Given the description of an element on the screen output the (x, y) to click on. 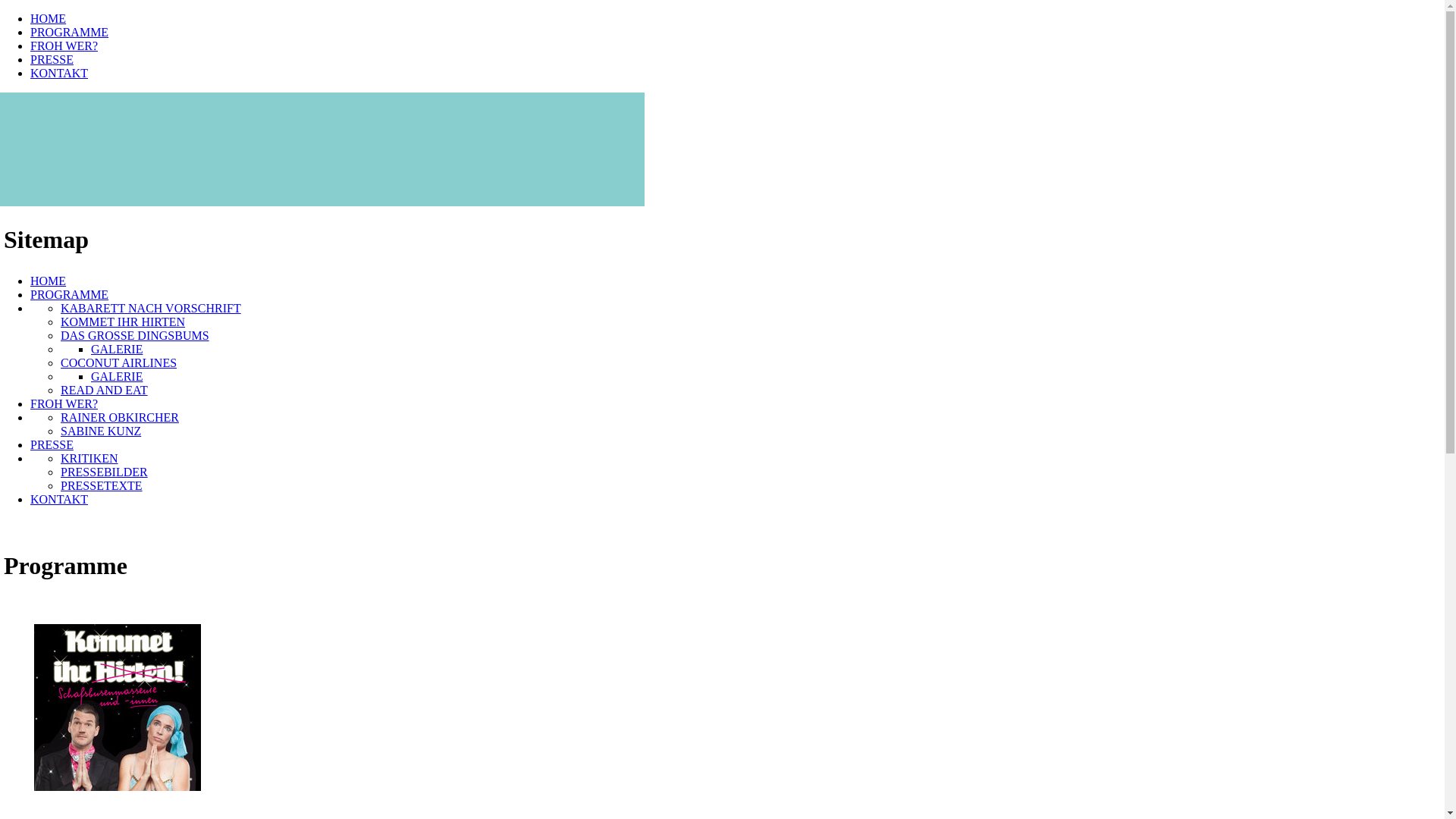
KOMMET IHR HIRTEN Element type: text (122, 321)
READ AND EAT Element type: text (103, 389)
PROGRAMME Element type: text (69, 294)
RAINER OBKIRCHER Element type: text (119, 417)
KABARETT NACH VORSCHRIFT Element type: text (150, 307)
PRESSETEXTE Element type: text (101, 485)
PRESSEBILDER Element type: text (103, 471)
PROGRAMME Element type: text (69, 31)
GALERIE Element type: text (116, 348)
PRESSE Element type: text (51, 59)
KONTAKT Element type: text (58, 72)
HOME Element type: text (47, 280)
KONTAKT Element type: text (58, 498)
COCONUT AIRLINES Element type: text (118, 362)
PRESSE Element type: text (51, 444)
GALERIE Element type: text (116, 376)
FROH WER? Element type: text (63, 403)
FROH WER? Element type: text (63, 45)
KRITIKEN Element type: text (89, 457)
SABINE KUNZ Element type: text (100, 430)
HOME Element type: text (47, 18)
DAS GROSSE DINGSBUMS Element type: text (134, 335)
